Given the description of an element on the screen output the (x, y) to click on. 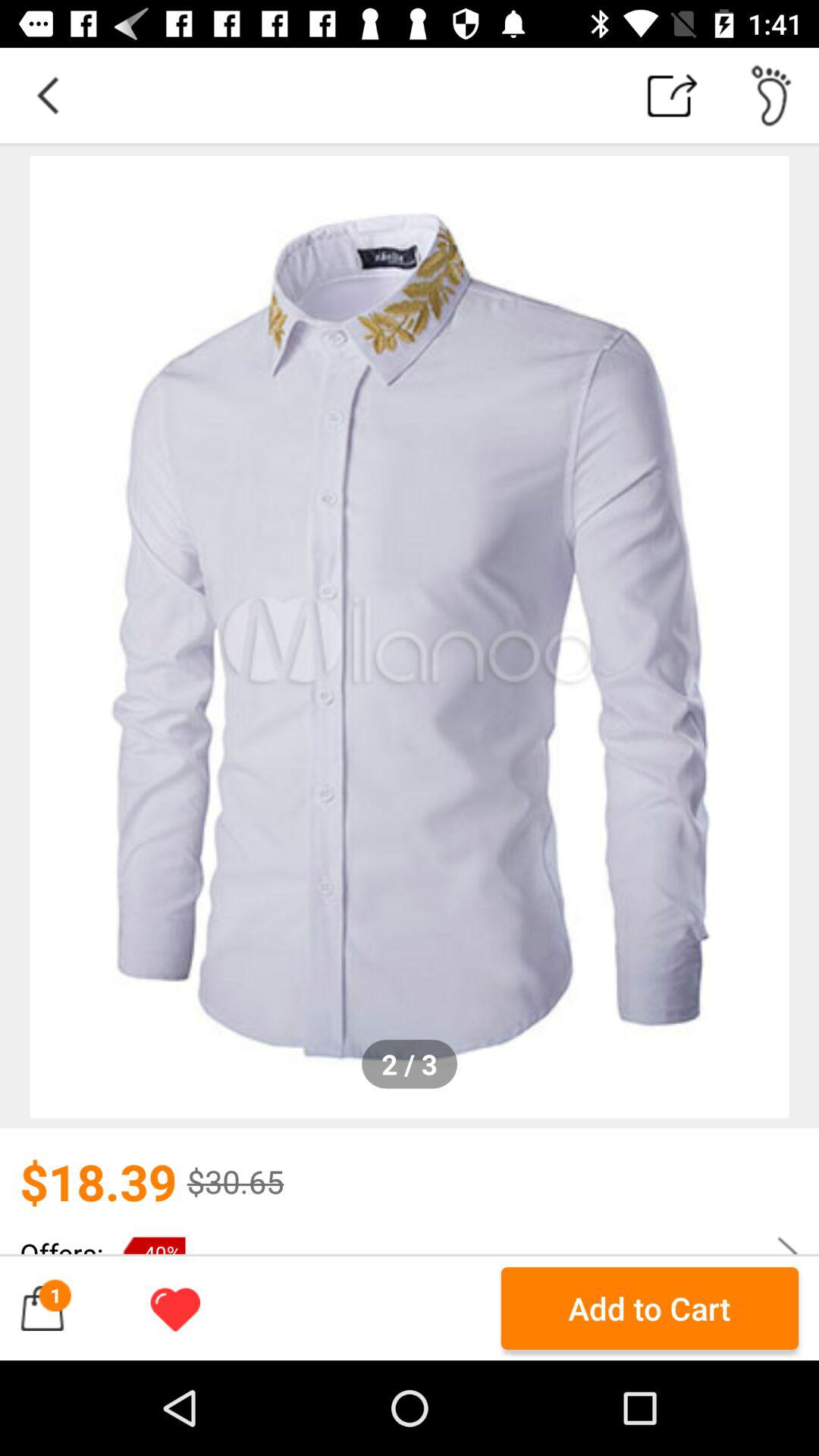
favorite (175, 1308)
